Given the description of an element on the screen output the (x, y) to click on. 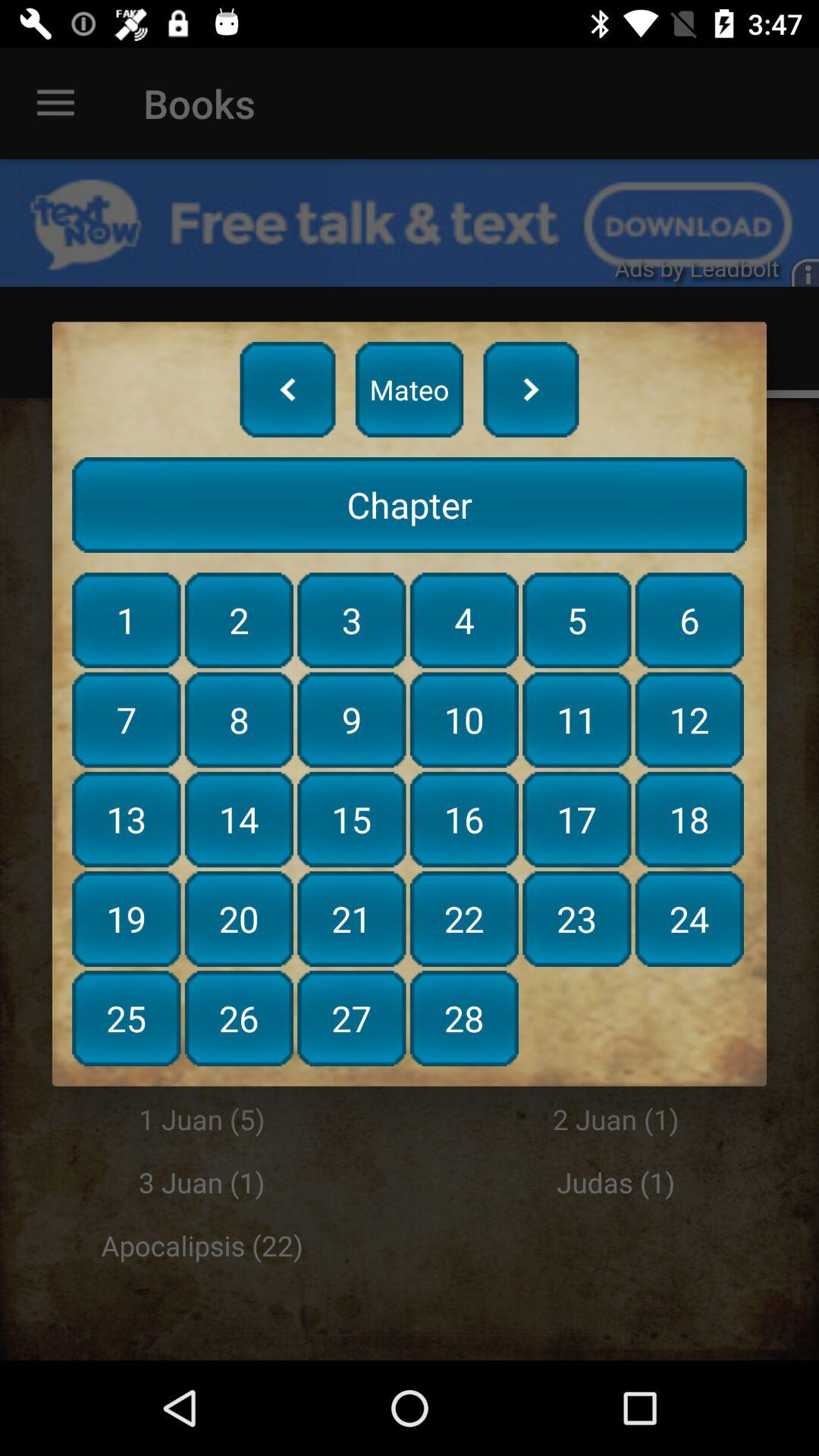
go back (287, 389)
